Given the description of an element on the screen output the (x, y) to click on. 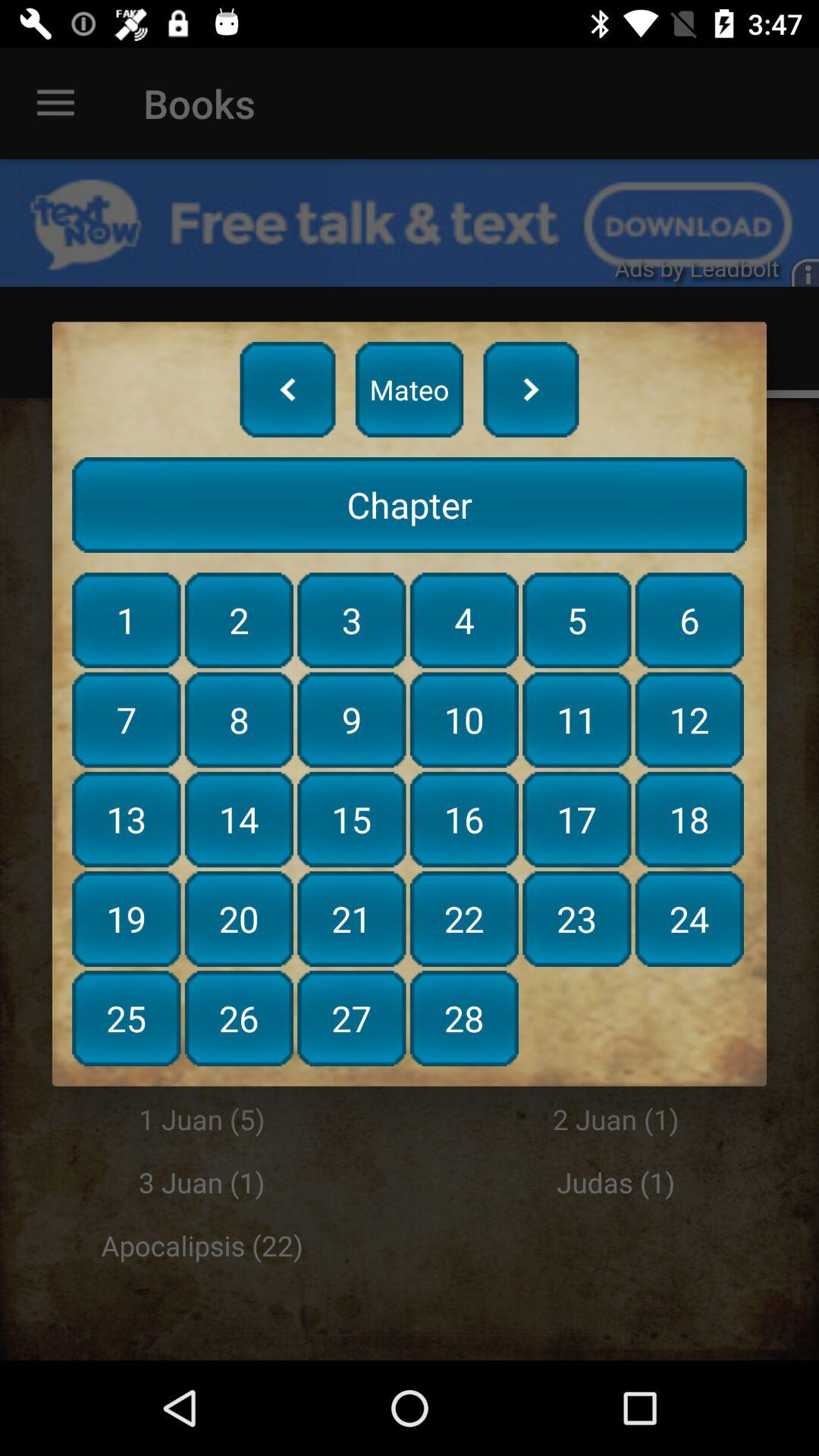
go back (287, 389)
